Given the description of an element on the screen output the (x, y) to click on. 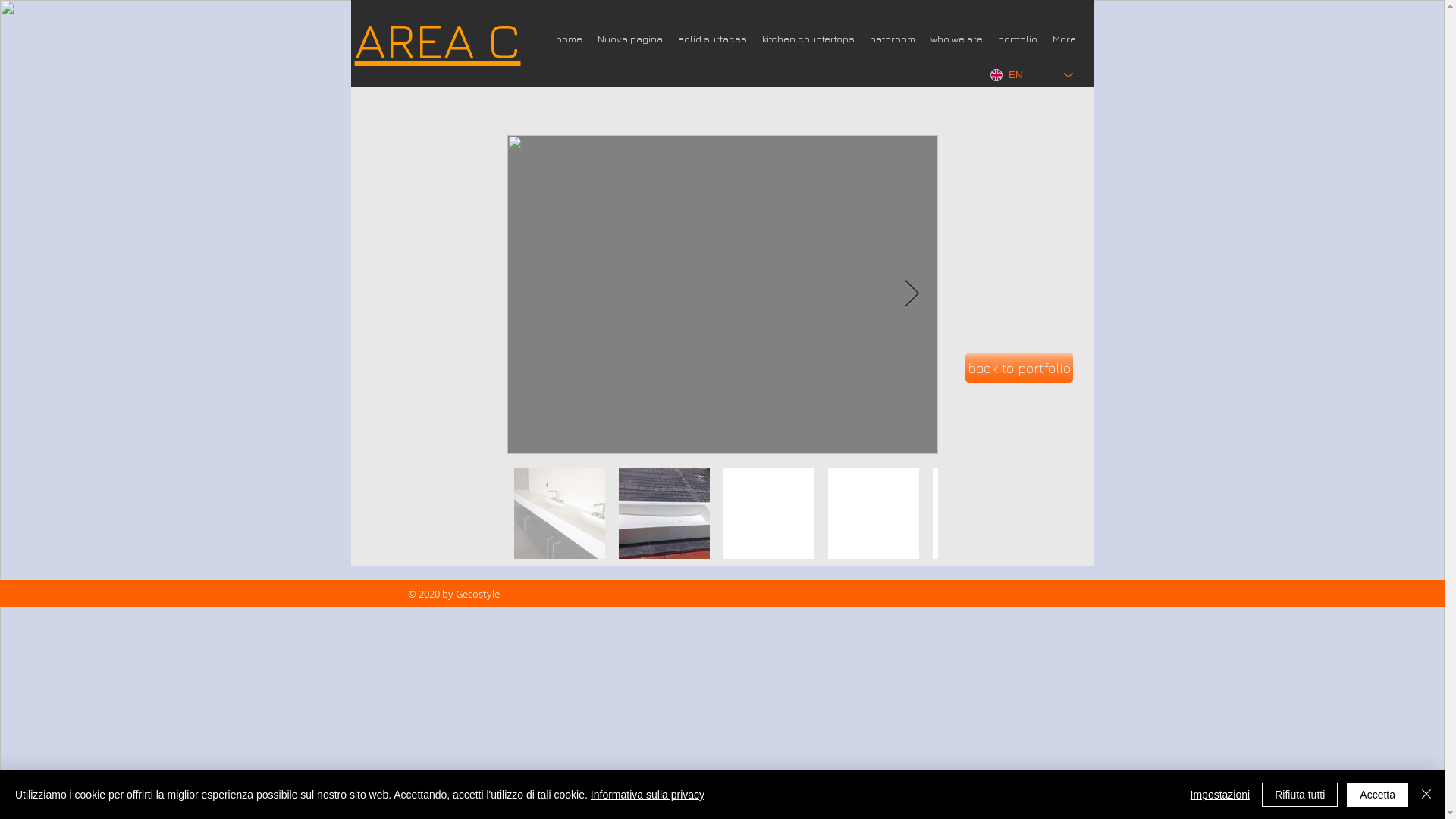
home Element type: text (568, 38)
kitchen countertops Element type: text (807, 38)
back to portfolio Element type: text (1018, 367)
bathroom Element type: text (891, 38)
Rifiuta tutti Element type: text (1299, 794)
Informativa sulla privacy Element type: text (647, 794)
AREA C Element type: text (437, 39)
Accetta Element type: text (1377, 794)
portfolio Element type: text (1017, 38)
solid surfaces Element type: text (712, 38)
Nuova pagina Element type: text (629, 38)
who we are Element type: text (955, 38)
